Given the description of an element on the screen output the (x, y) to click on. 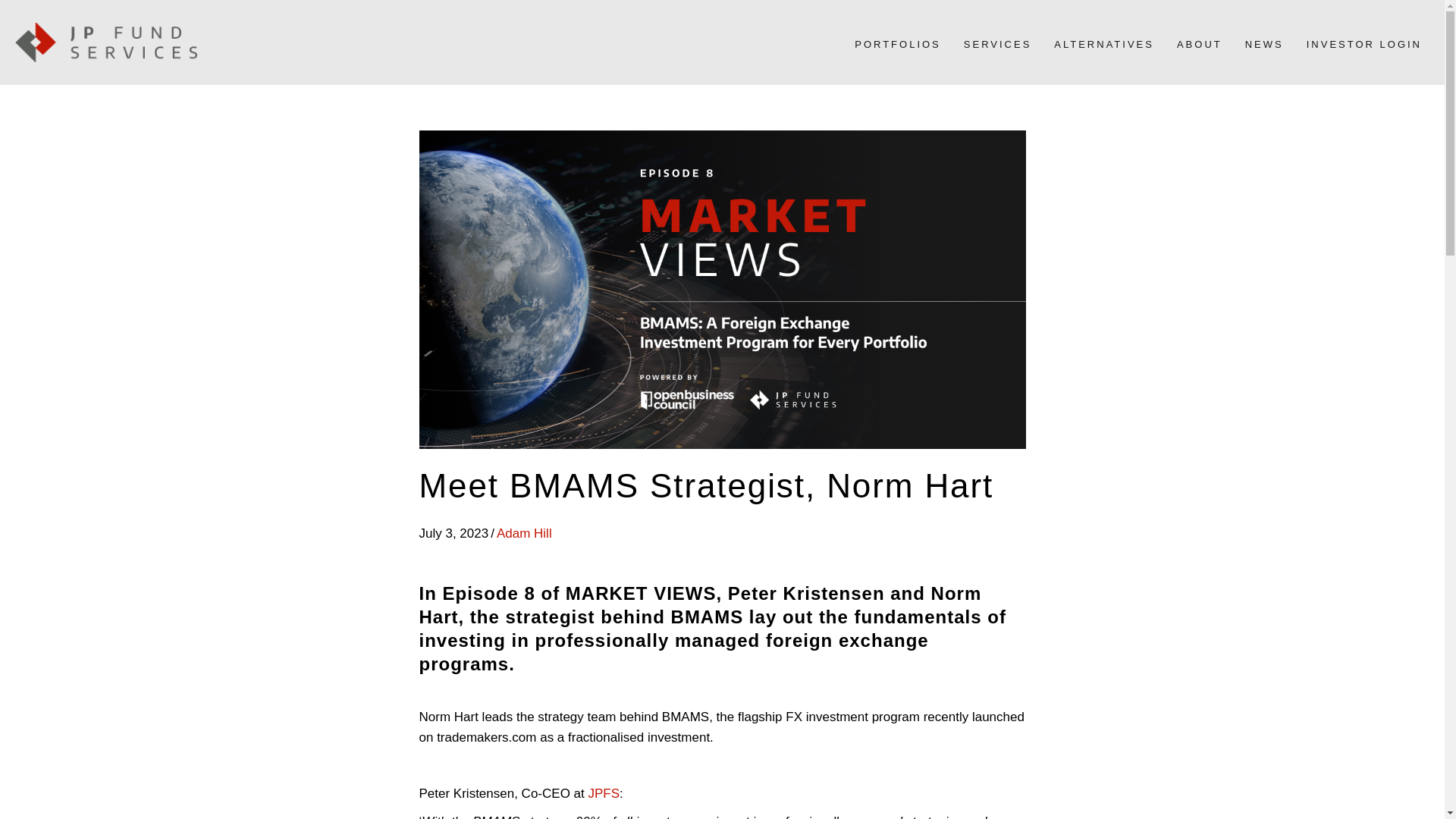
NEWS (1264, 44)
Adam Hill (523, 533)
ALTERNATIVES (1103, 44)
PORTFOLIOS (898, 44)
JPFS (604, 793)
INVESTOR LOGIN (1363, 44)
ABOUT (1199, 44)
SERVICES (997, 44)
